Given the description of an element on the screen output the (x, y) to click on. 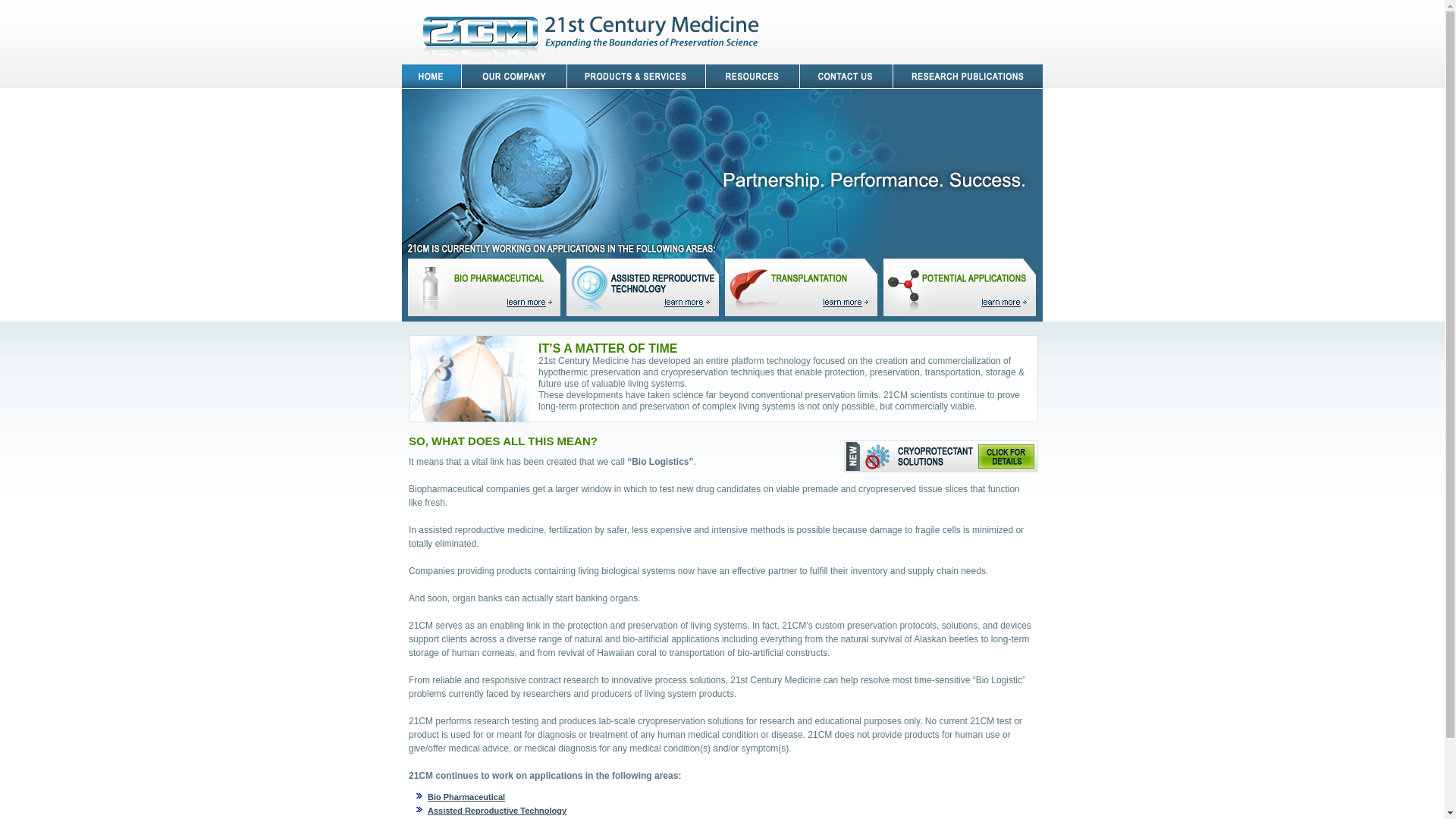
Potential Applications Element type: hover (959, 287)
Transplantation Element type: hover (803, 287)
Bio Pharmaceutical Element type: text (466, 796)
Our Company Element type: hover (514, 75)
Cryoprotectant Solutions Element type: hover (946, 455)
Research Publications Element type: hover (967, 75)
Resources Element type: hover (753, 75)
Products & Services Element type: hover (636, 75)
Assisted Reproductive Technology Element type: text (496, 810)
Assisted Reproductive Technology Element type: hover (645, 287)
Bio Pharmaceutical Element type: hover (486, 287)
Contact us Element type: hover (846, 75)
Home Element type: hover (431, 75)
